Given the description of an element on the screen output the (x, y) to click on. 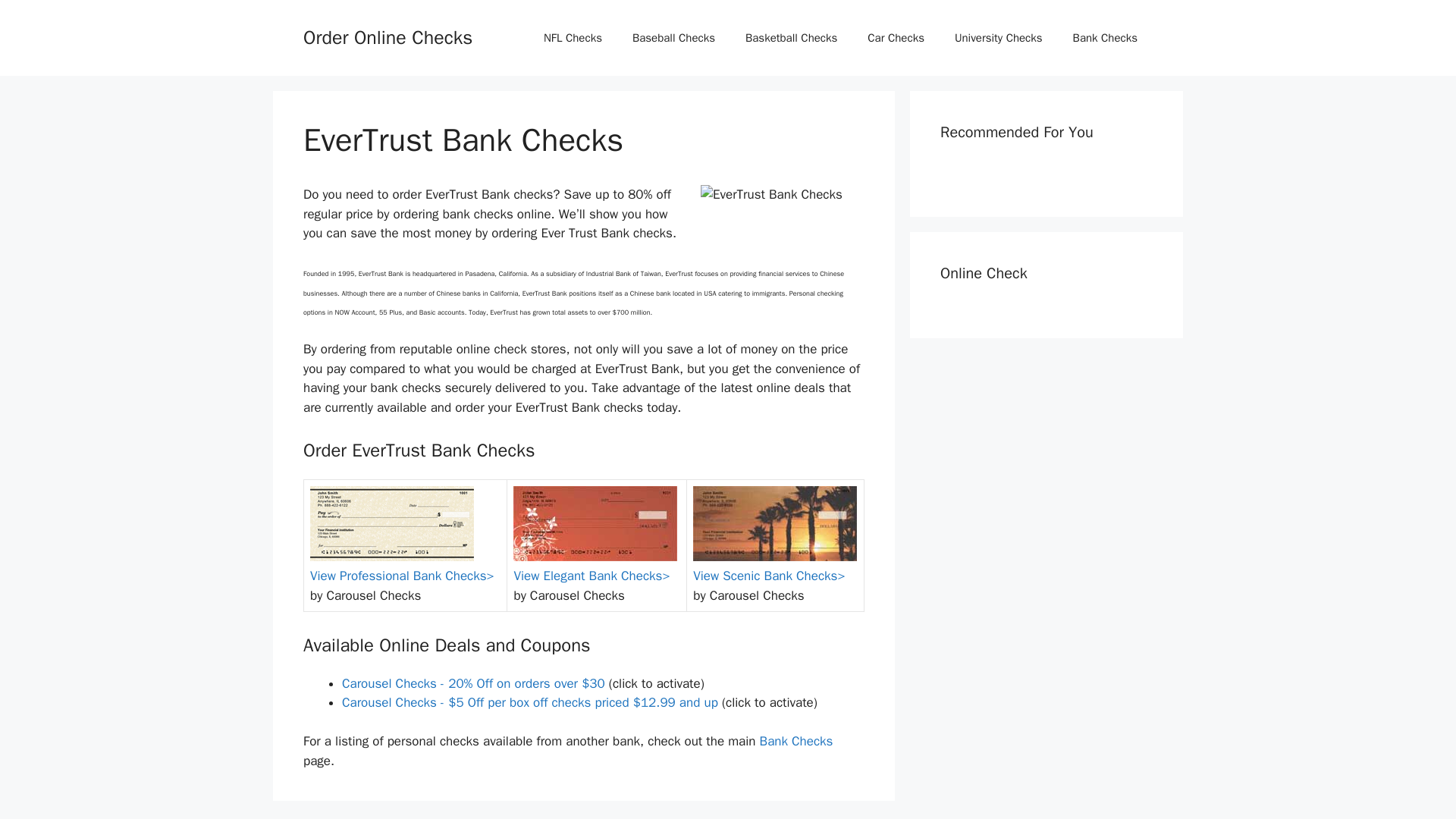
Bank Checks (1105, 37)
Car Checks (895, 37)
Baseball Checks (673, 37)
Bank Checks (796, 741)
Order Online Checks (386, 37)
Island Paradise Personal Bank Checks (775, 523)
Baseball Checks (673, 37)
Basketball Checks (790, 37)
Parchment Personal Bank Checks (392, 523)
University Checks (998, 37)
NFL Checks (572, 37)
EverTrust Bank Checks (782, 222)
NFL Checks (572, 37)
Basketball Checks (790, 37)
